Given the description of an element on the screen output the (x, y) to click on. 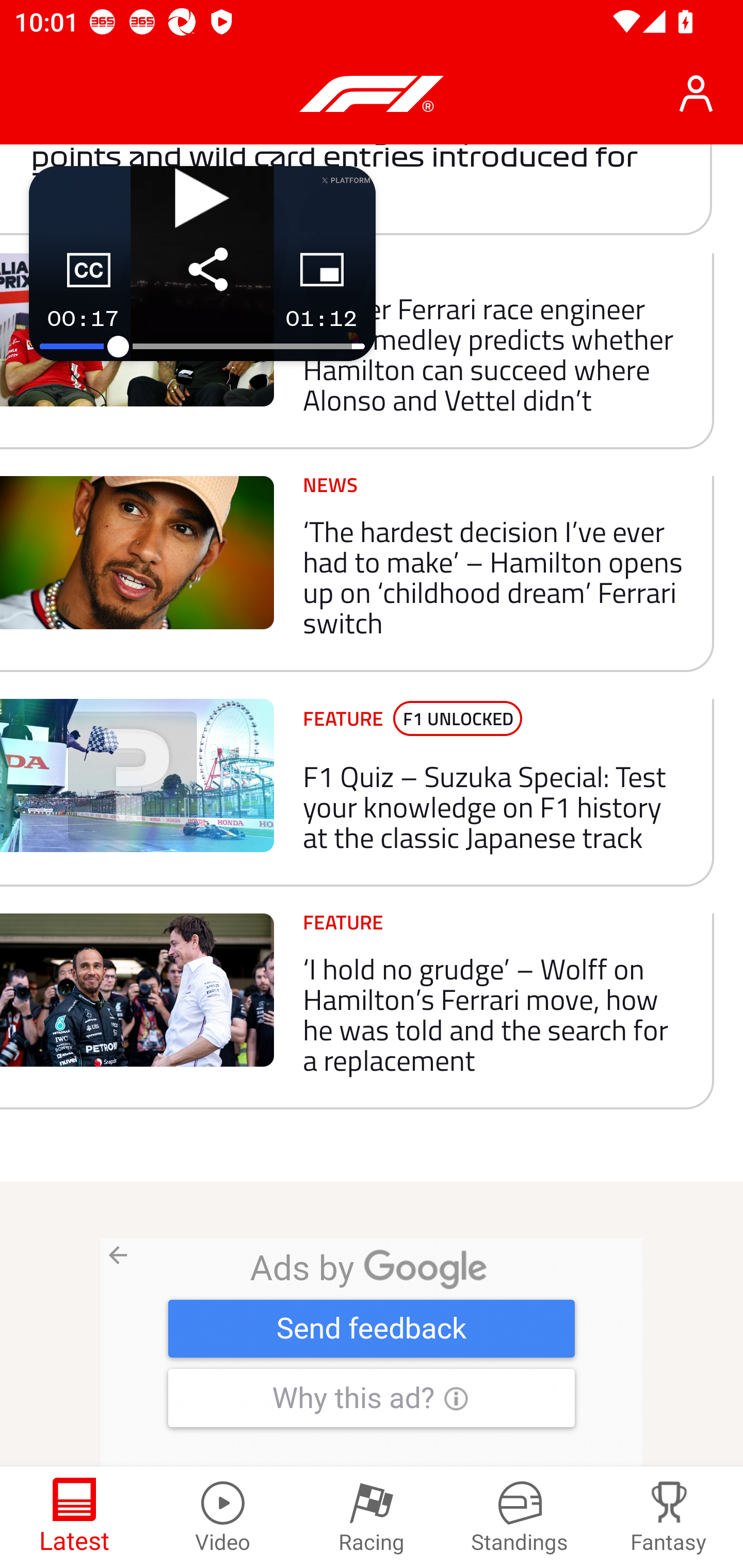
Video (222, 1517)
Racing (371, 1517)
Standings (519, 1517)
Fantasy (668, 1517)
